Given the description of an element on the screen output the (x, y) to click on. 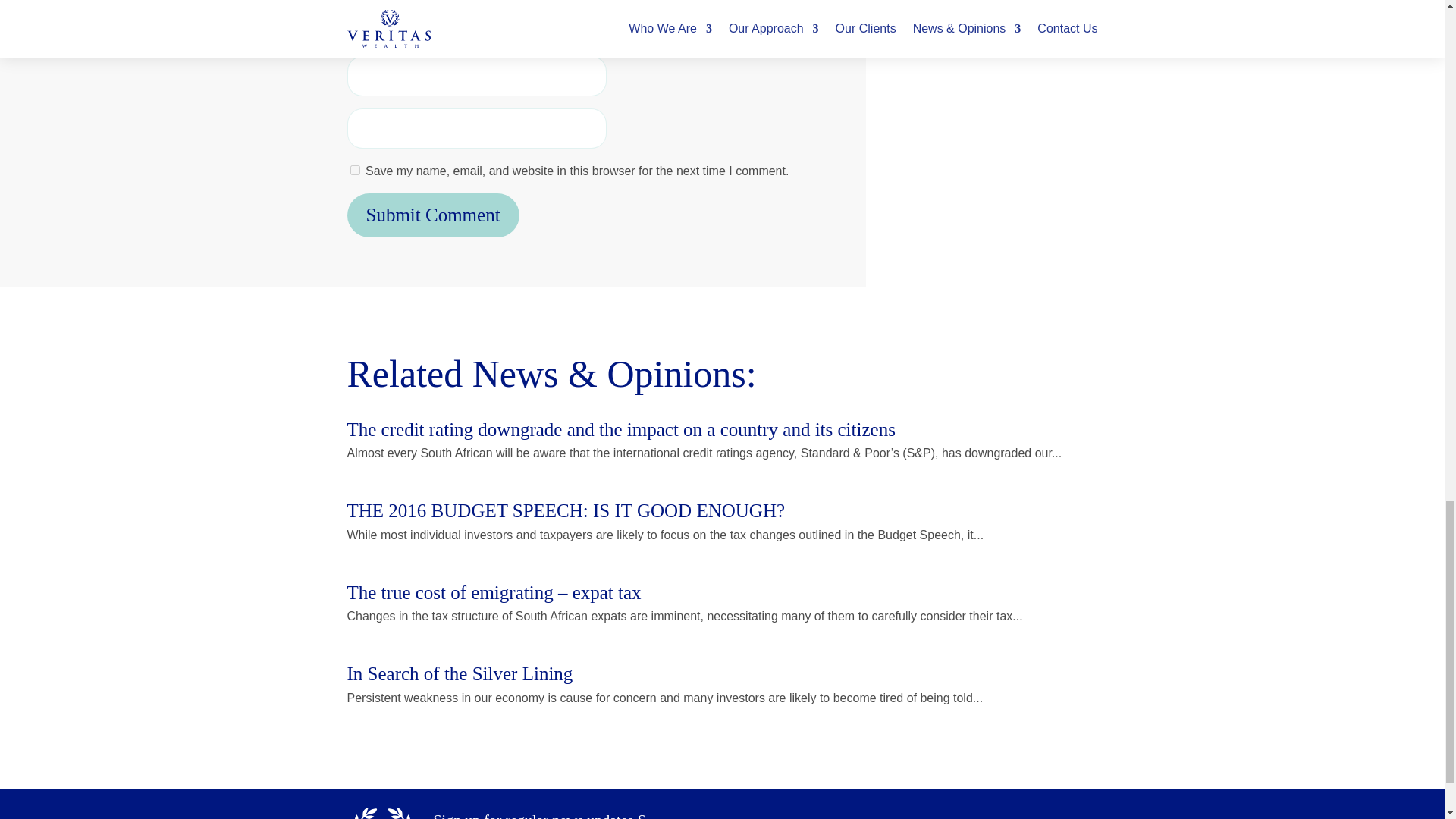
In Search of the Silver Lining (460, 673)
yes (354, 170)
THE 2016 BUDGET SPEECH: IS IT GOOD ENOUGH? (566, 510)
